Given the description of an element on the screen output the (x, y) to click on. 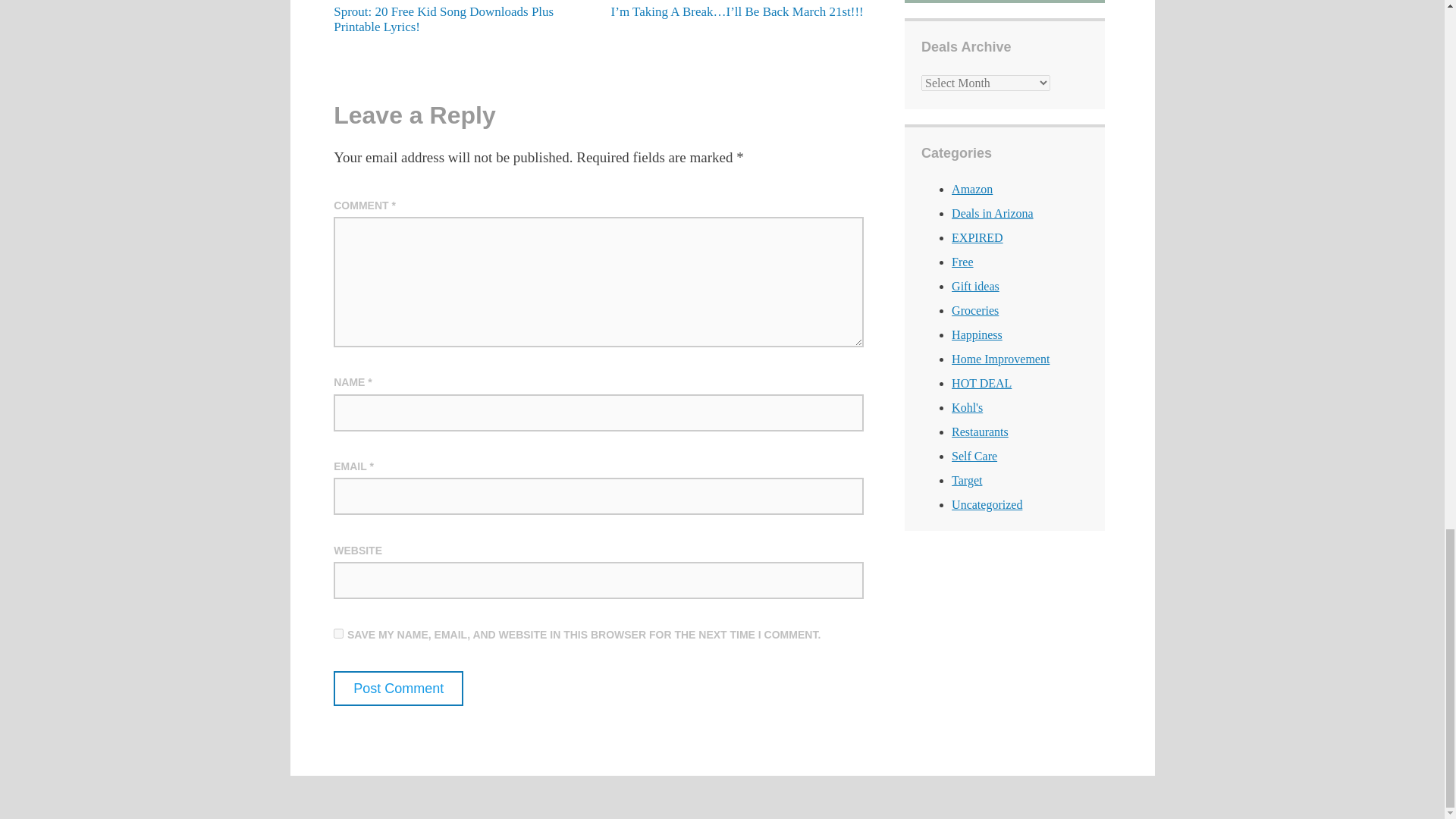
Gift ideas (975, 286)
HOT DEAL (981, 382)
Free (962, 261)
Home Improvement (1000, 358)
Post Comment (398, 687)
Groceries (975, 309)
Amazon (972, 188)
Post Comment (398, 687)
EXPIRED (977, 237)
